Given the description of an element on the screen output the (x, y) to click on. 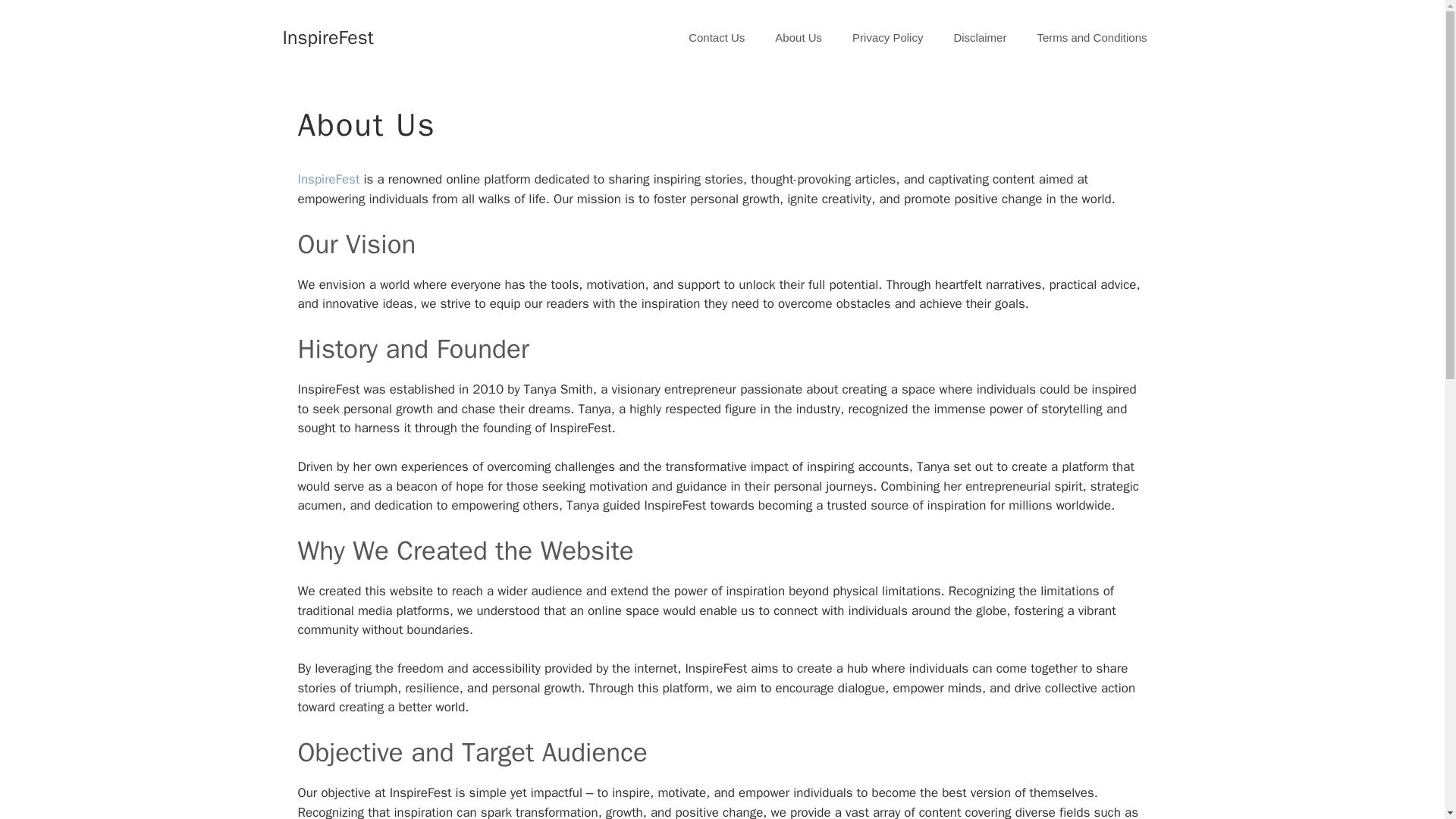
InspireFest (328, 179)
InspireFest (328, 179)
About Us (798, 37)
Terms and Conditions (1091, 37)
Contact Us (716, 37)
Privacy Policy (887, 37)
InspireFest (327, 37)
Disclaimer (979, 37)
